Given the description of an element on the screen output the (x, y) to click on. 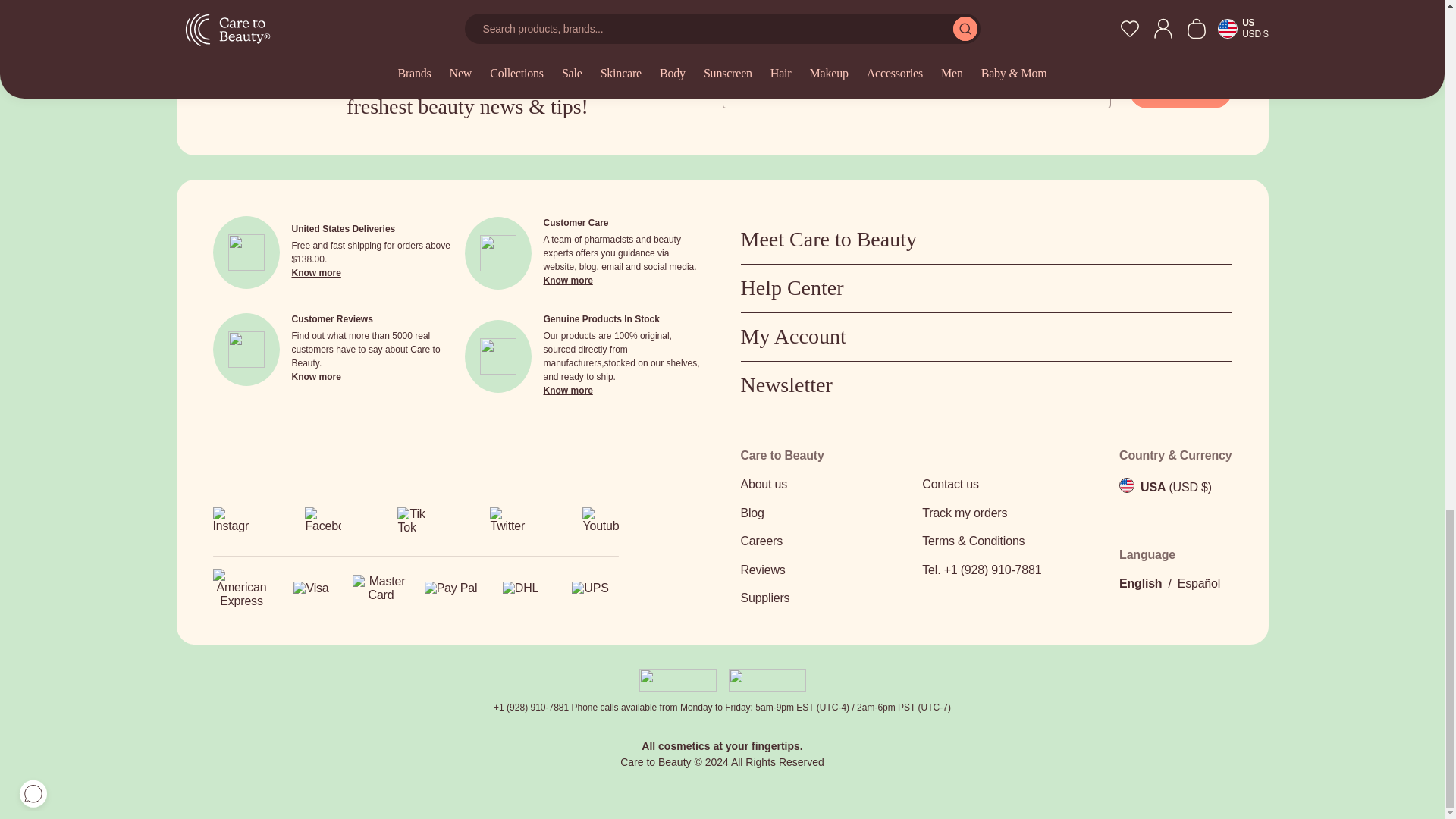
Help Center (985, 288)
Instagram (230, 524)
Track my orders (1007, 513)
Careers (825, 541)
Meet Care to Beauty (985, 239)
Suppliers (825, 598)
Blog (825, 513)
Newsletter (985, 385)
About us (825, 484)
Instagram (230, 519)
